Given the description of an element on the screen output the (x, y) to click on. 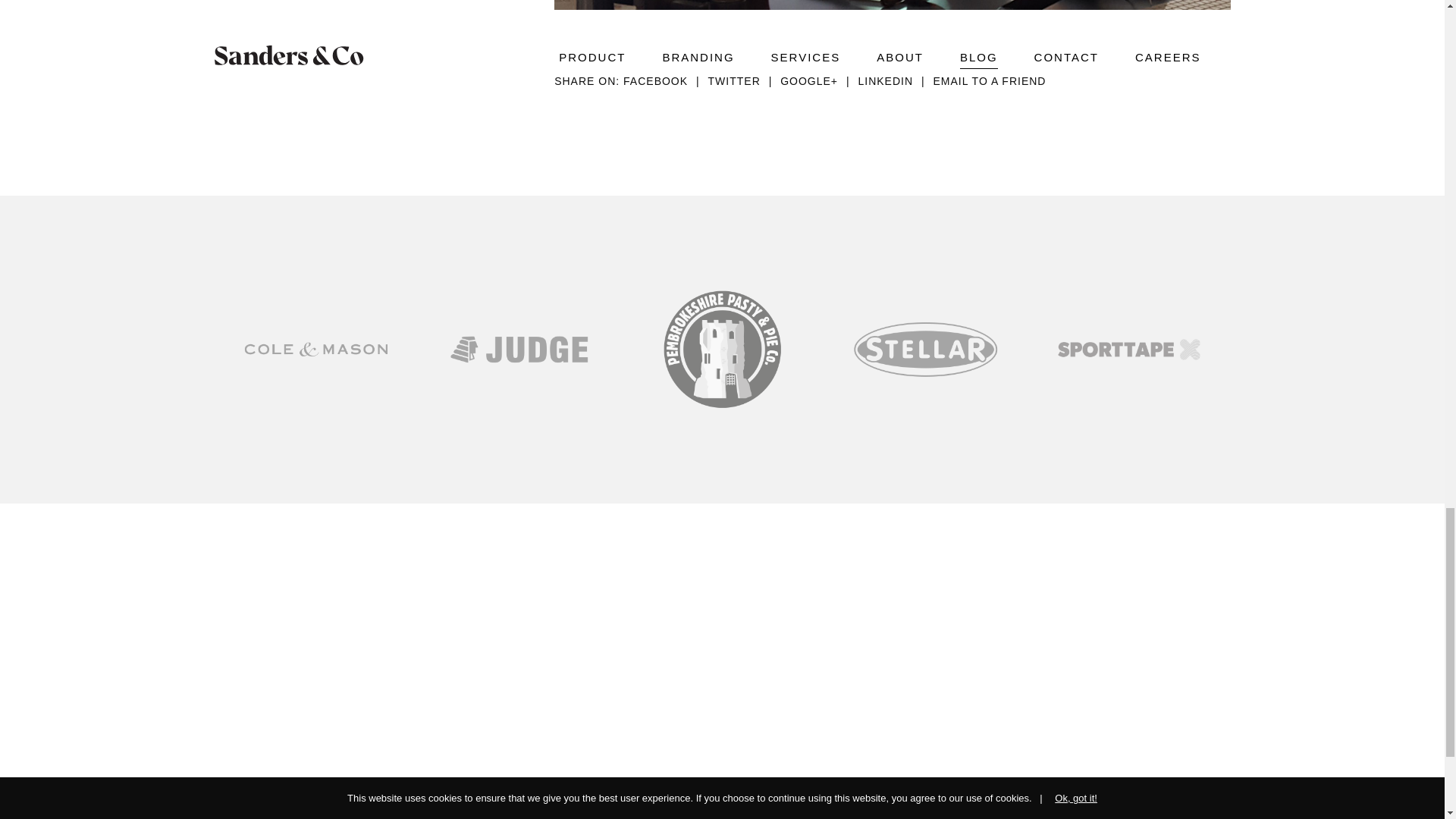
Email to a friend (989, 80)
FACEBOOK (665, 80)
LINKEDIN (895, 80)
Share on Facebook (665, 80)
Share on Twitter (743, 80)
EMAIL TO A FRIEND (989, 80)
Share on LinkedIn (895, 80)
TWITTER (743, 80)
